Given the description of an element on the screen output the (x, y) to click on. 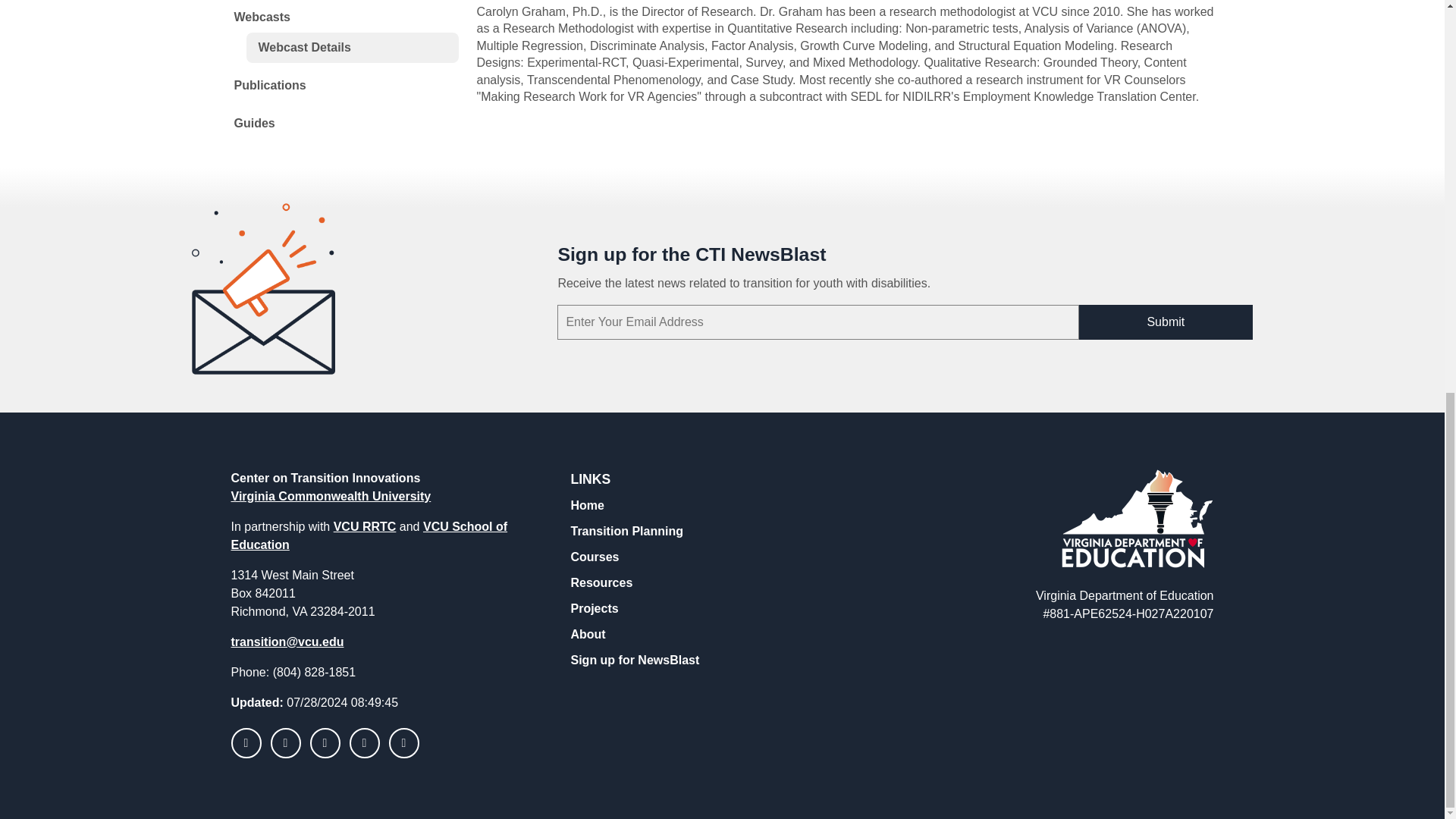
Submit (1165, 321)
